Given the description of an element on the screen output the (x, y) to click on. 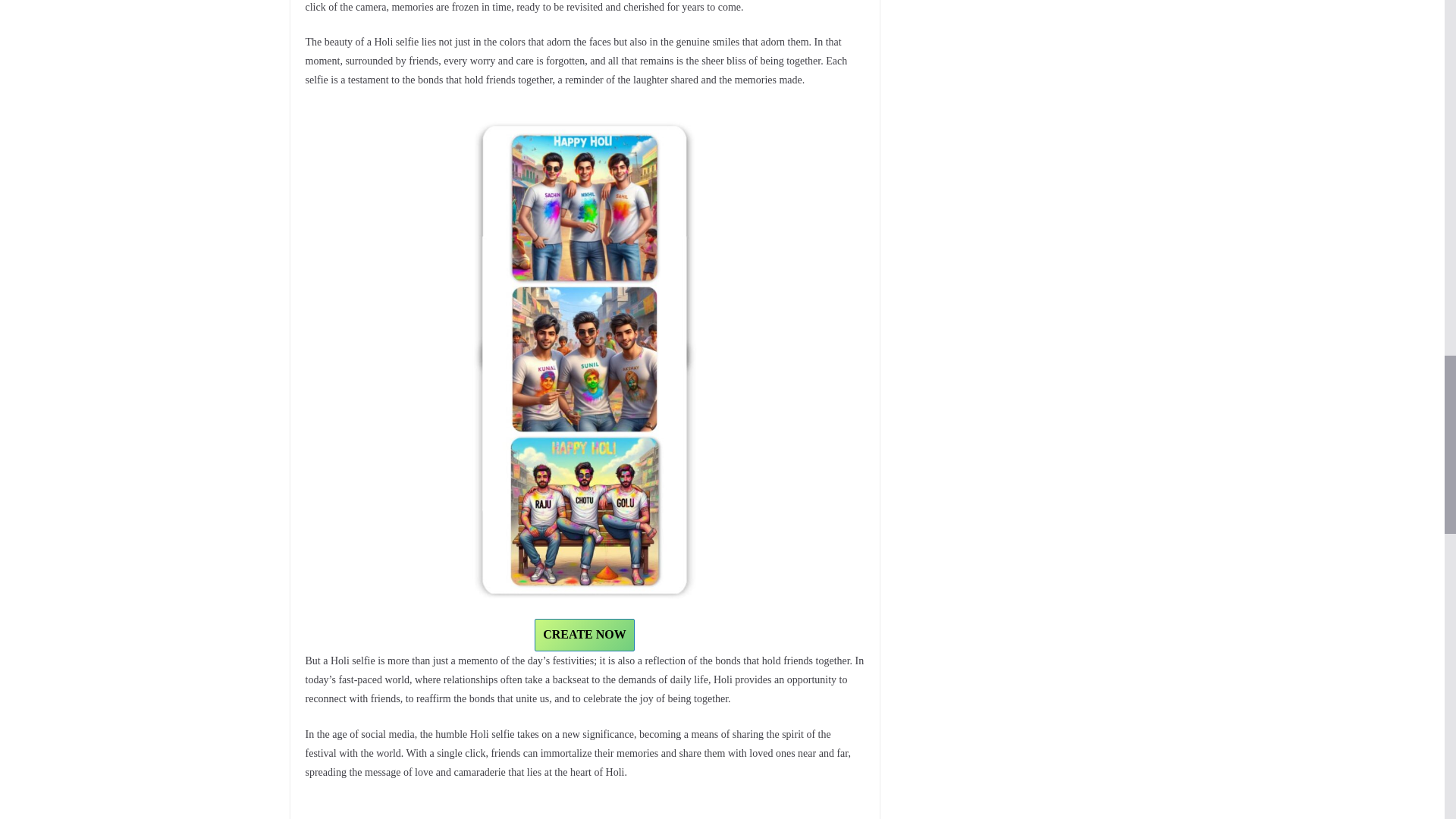
CREATE NOW (584, 635)
